Given the description of an element on the screen output the (x, y) to click on. 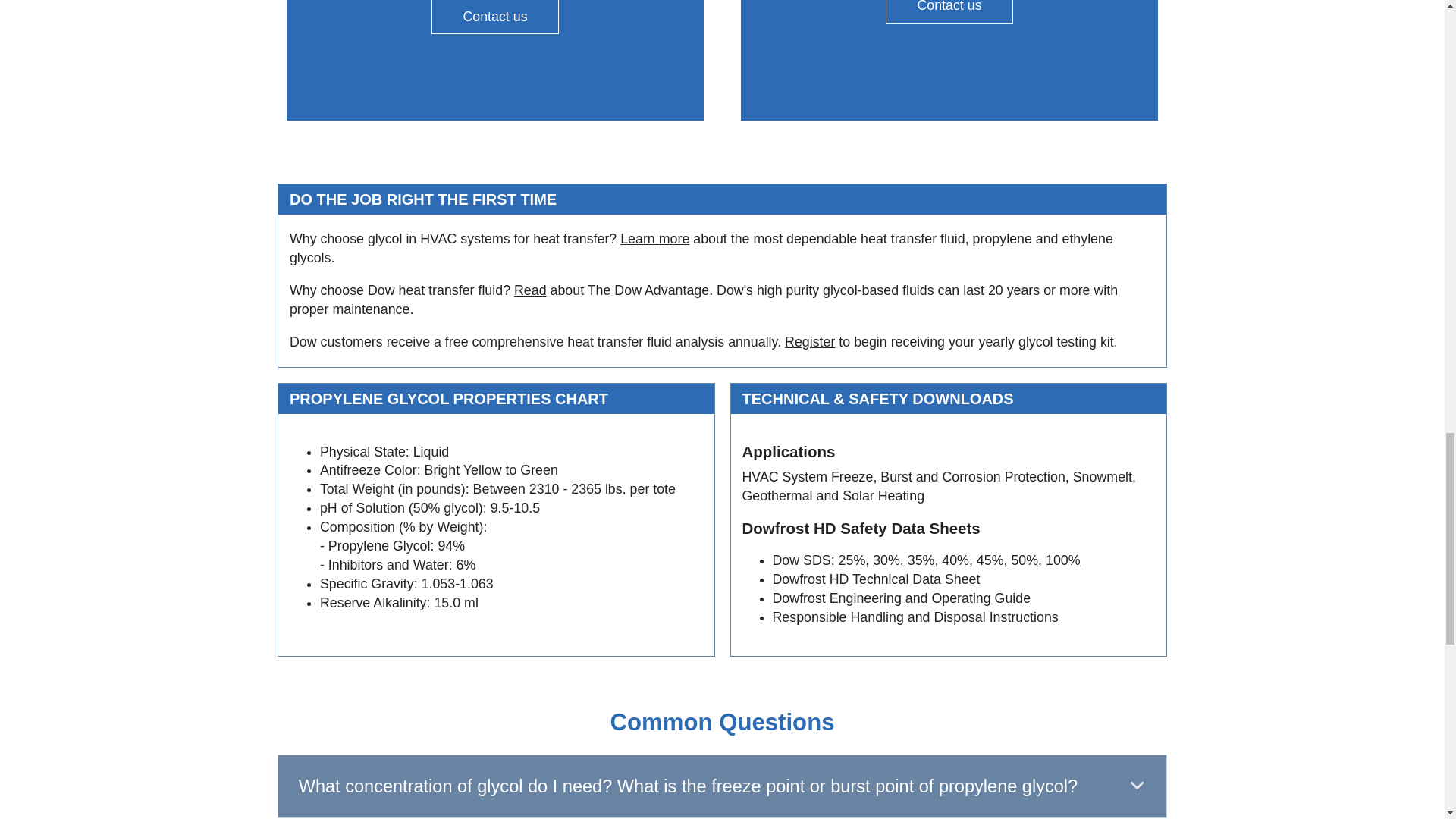
Propylene Glycol vs Ethylene Glycol (654, 238)
How to Handle and Dispose of Glycol (914, 616)
DOWFROST Engineering Operating Guide (929, 598)
Why Dow is Our Heat Transfer Fluid of Choice (530, 290)
DOWFROST HD Technical Data Sheet (915, 579)
